Given the description of an element on the screen output the (x, y) to click on. 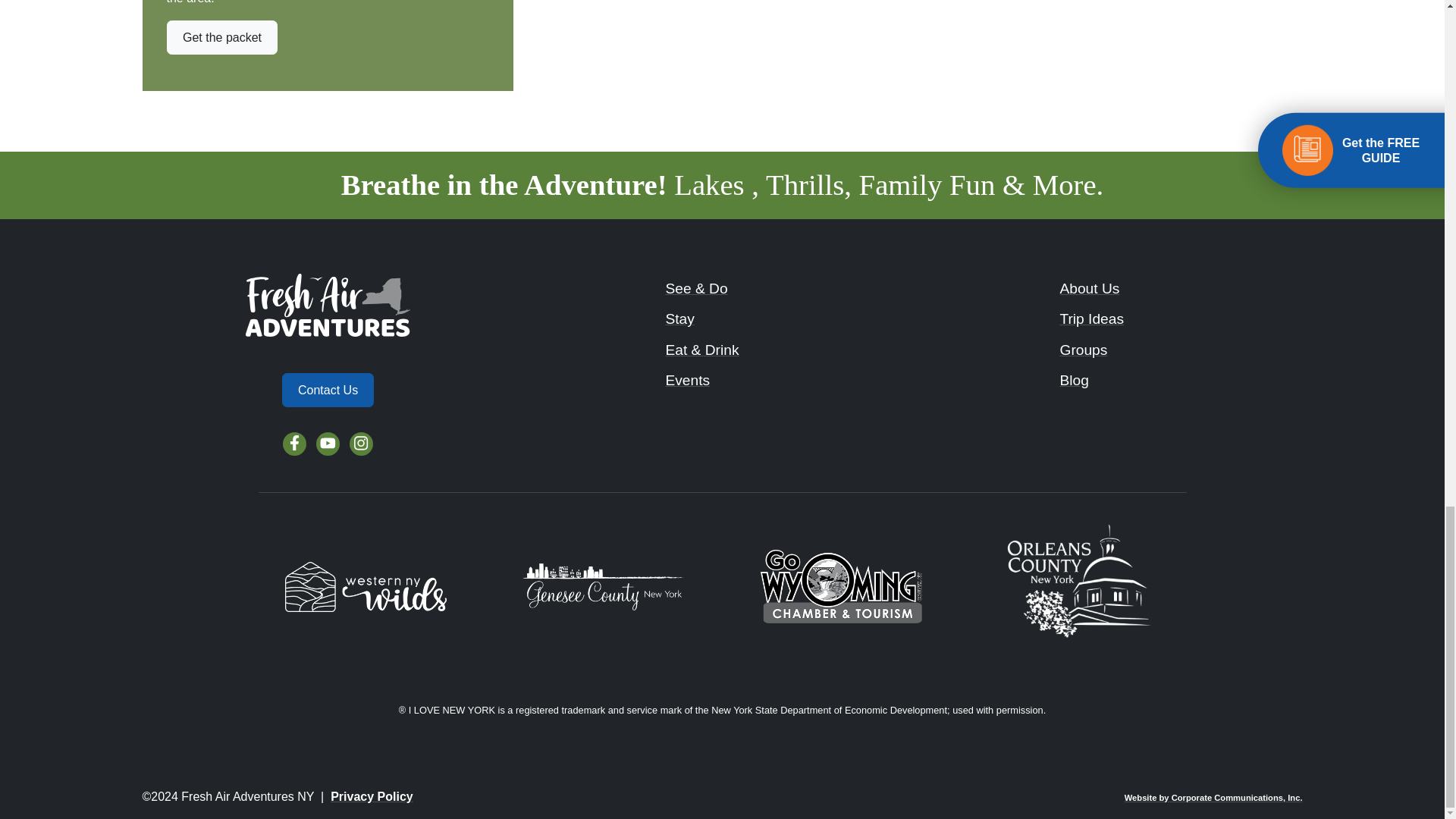
About Us (1089, 288)
Events (687, 380)
Stay (679, 318)
Contact Us (328, 390)
Blog (1073, 380)
Get the packet (222, 37)
Groups (1082, 349)
Trip Ideas (1091, 318)
